Given the description of an element on the screen output the (x, y) to click on. 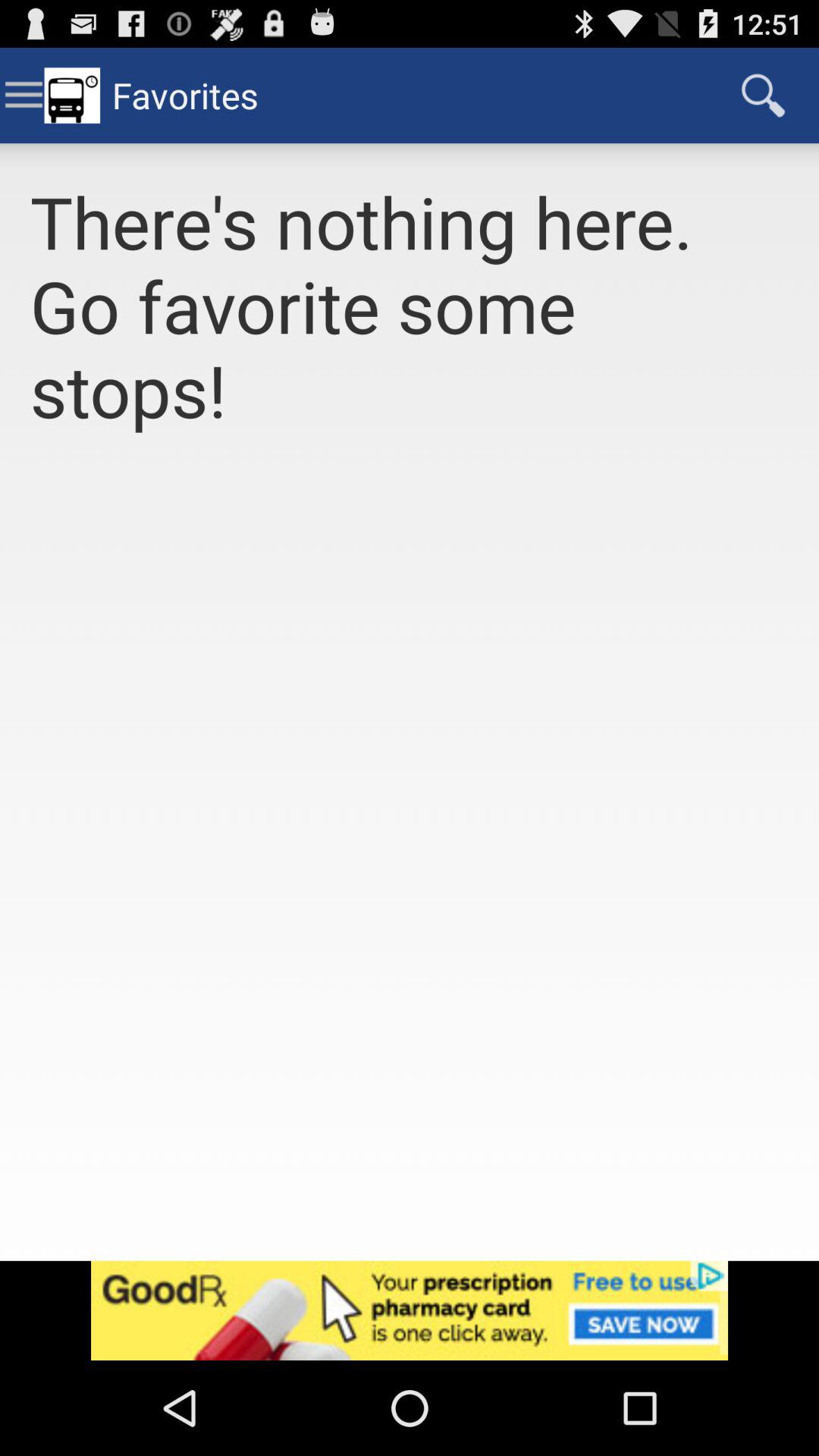
click advertisement banner (409, 1310)
